Given the description of an element on the screen output the (x, y) to click on. 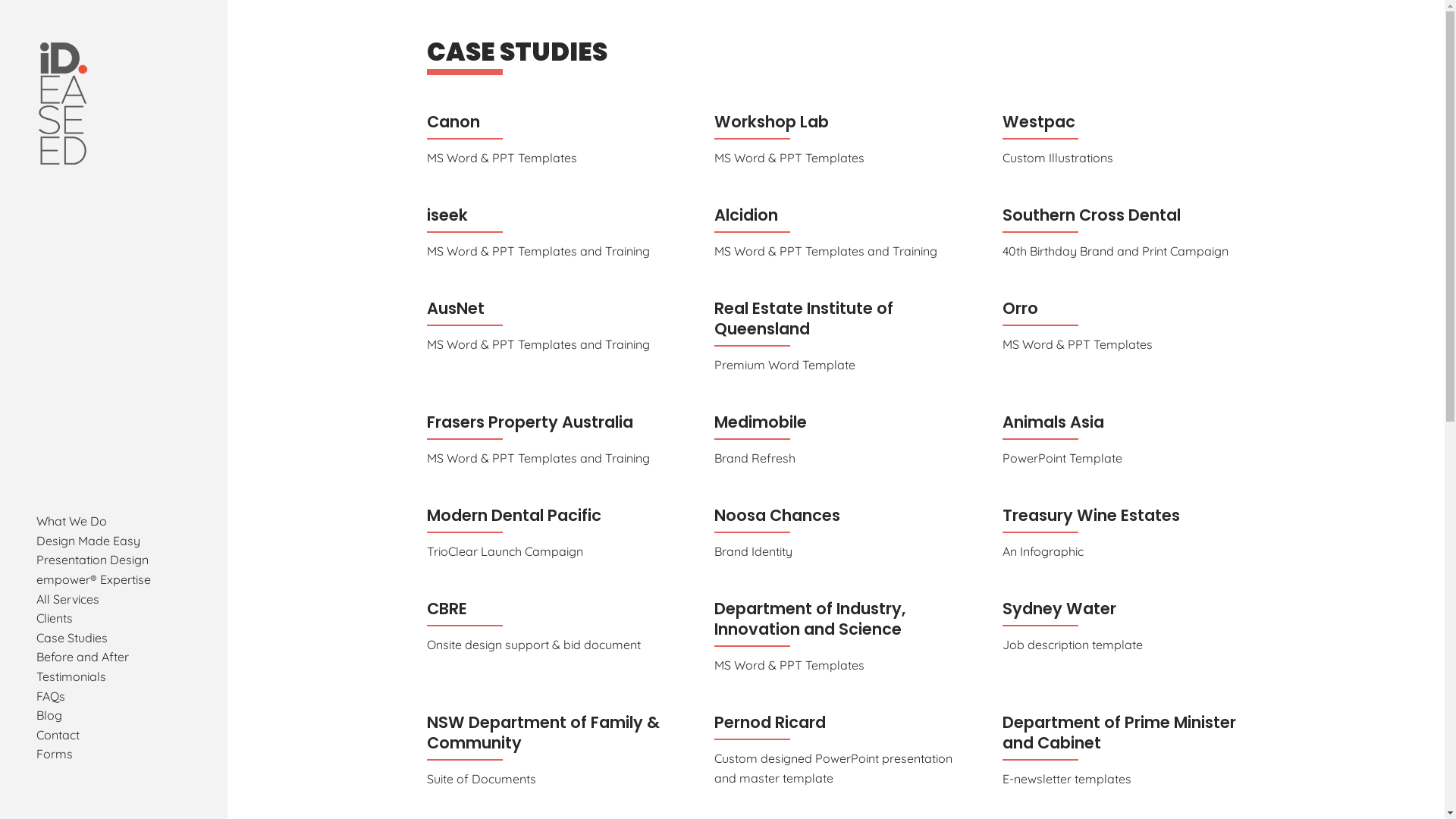
iseek Element type: text (446, 214)
Alcidion Element type: text (746, 214)
Clients Element type: text (54, 617)
Department of Industry, Innovation and Science Element type: text (809, 618)
Pernod Ricard Element type: text (769, 722)
Workshop Lab Element type: text (771, 121)
Testimonials Element type: text (71, 676)
Sydney Water Element type: text (1059, 608)
Contact Element type: text (57, 734)
Modern Dental Pacific Element type: text (513, 515)
Animals Asia Element type: text (1053, 422)
Forms Element type: text (54, 753)
Southern Cross Dental Element type: text (1091, 214)
Medimobile Element type: text (760, 422)
Noosa Chances Element type: text (777, 515)
Westpac Element type: text (1038, 121)
Blog Element type: text (49, 714)
Frasers Property Australia Element type: text (529, 422)
NSW Department of Family & Community Element type: text (542, 732)
Design Made Easy Element type: text (88, 540)
What We Do Element type: text (71, 520)
Case Studies Element type: text (71, 637)
CBRE Element type: text (446, 608)
All Services Element type: text (67, 598)
Presentation Design Element type: text (92, 559)
FAQs Element type: text (50, 695)
AusNet Element type: text (454, 308)
Real Estate Institute of Queensland Element type: text (803, 318)
Before and After Element type: text (82, 656)
Department of Prime Minister and Cabinet Element type: text (1119, 732)
Canon Element type: text (452, 121)
Treasury Wine Estates Element type: text (1090, 515)
Orro Element type: text (1020, 308)
